Given the description of an element on the screen output the (x, y) to click on. 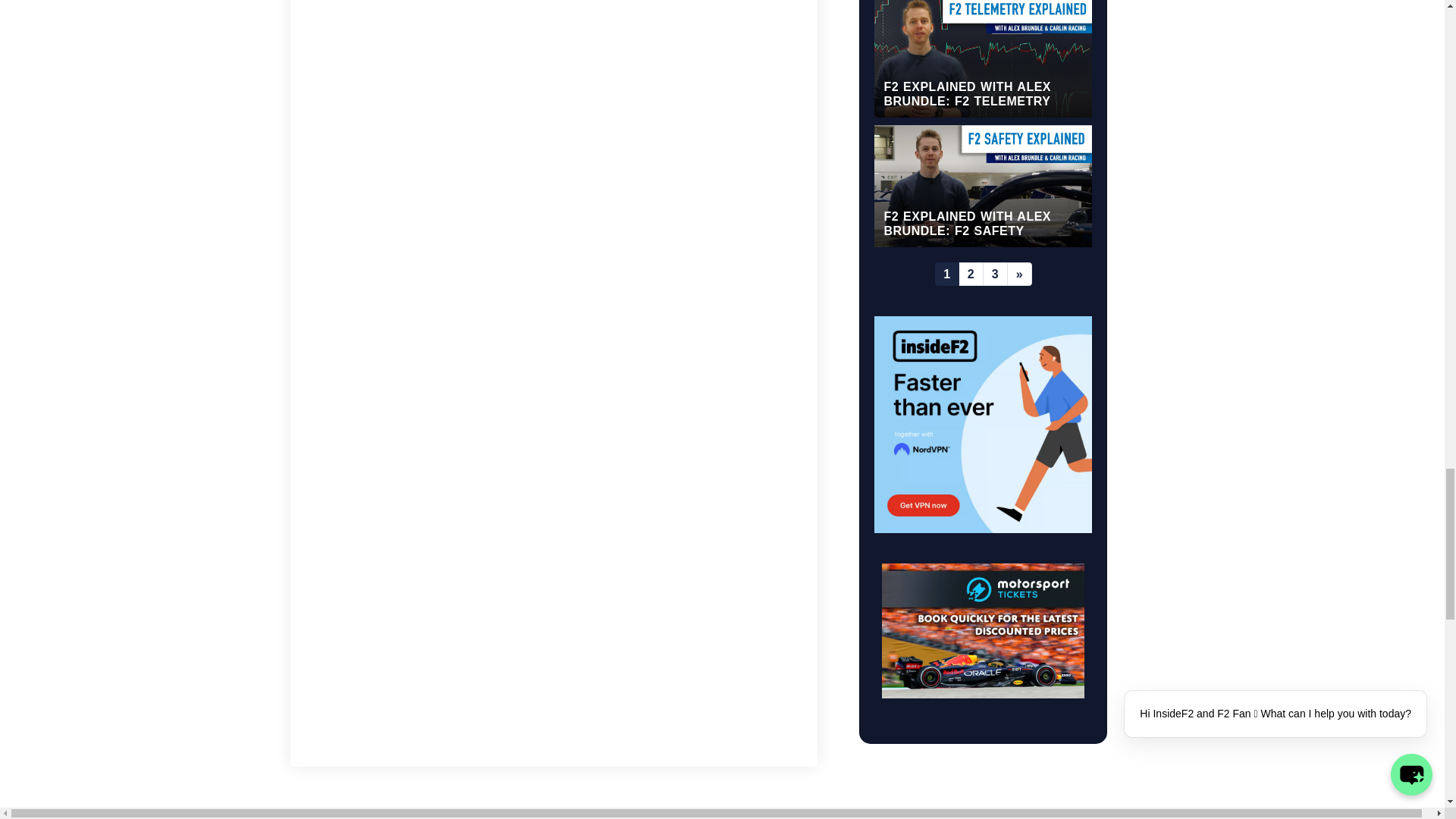
Next page (1019, 273)
